Given the description of an element on the screen output the (x, y) to click on. 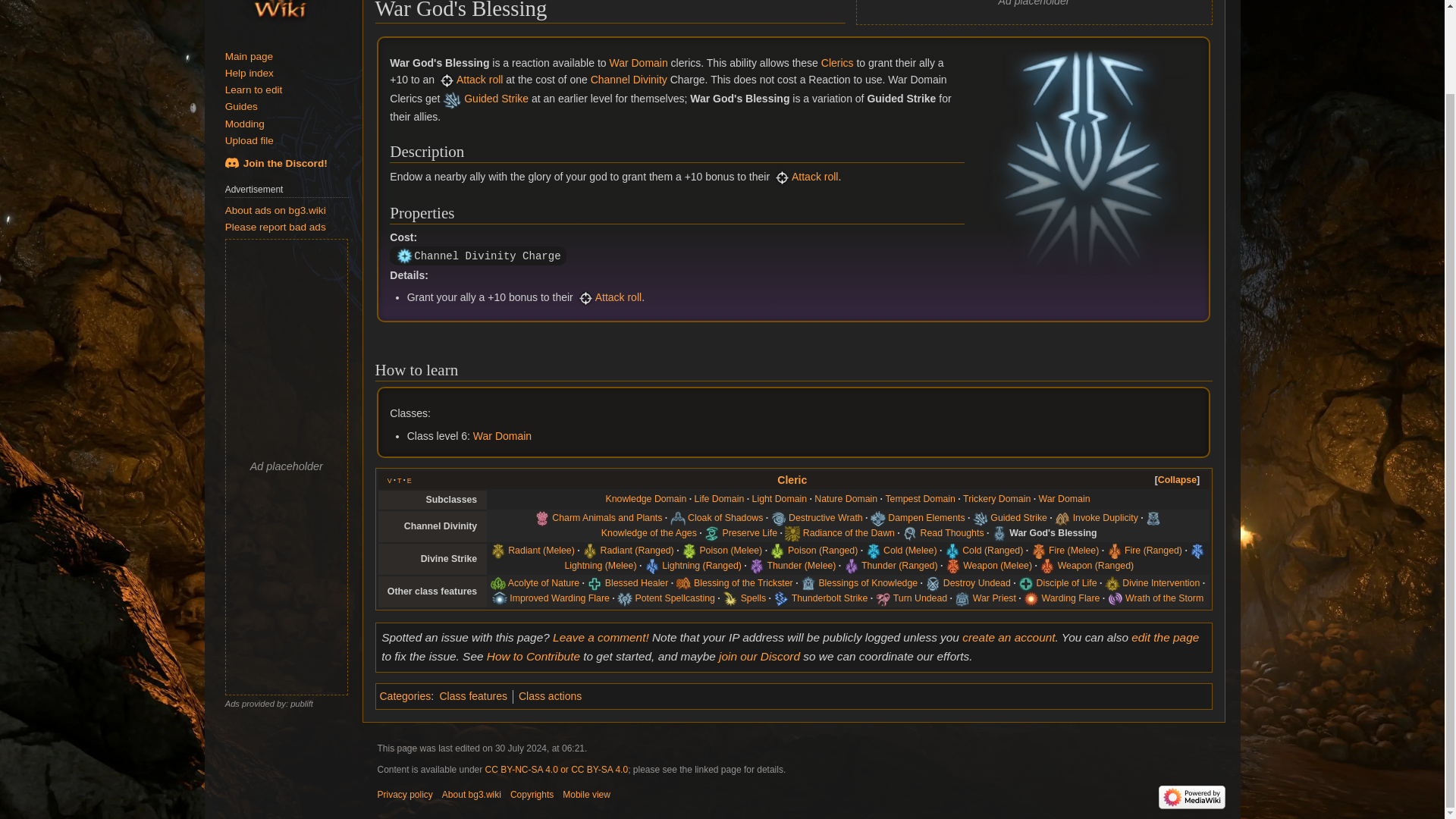
Cleric (791, 480)
Trickery Domain (996, 498)
War Domain (502, 435)
Knowledge Domain (646, 498)
War Domain (637, 62)
Cleric (837, 62)
Cloak of Shadows (724, 517)
War Domain (502, 435)
Life Domain (719, 498)
Channel Divinity (628, 79)
